Given the description of an element on the screen output the (x, y) to click on. 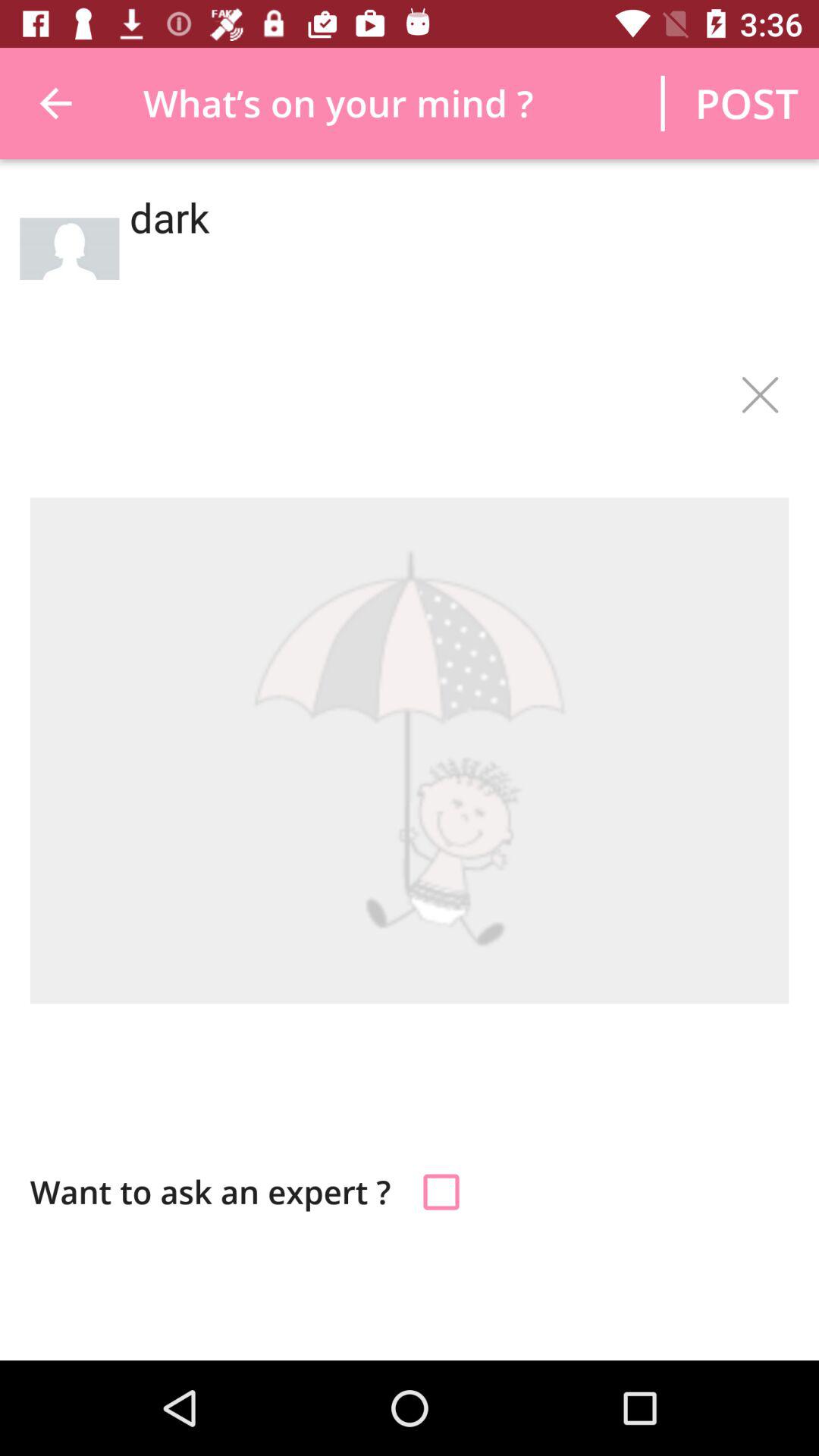
check to ask expert (441, 1191)
